Given the description of an element on the screen output the (x, y) to click on. 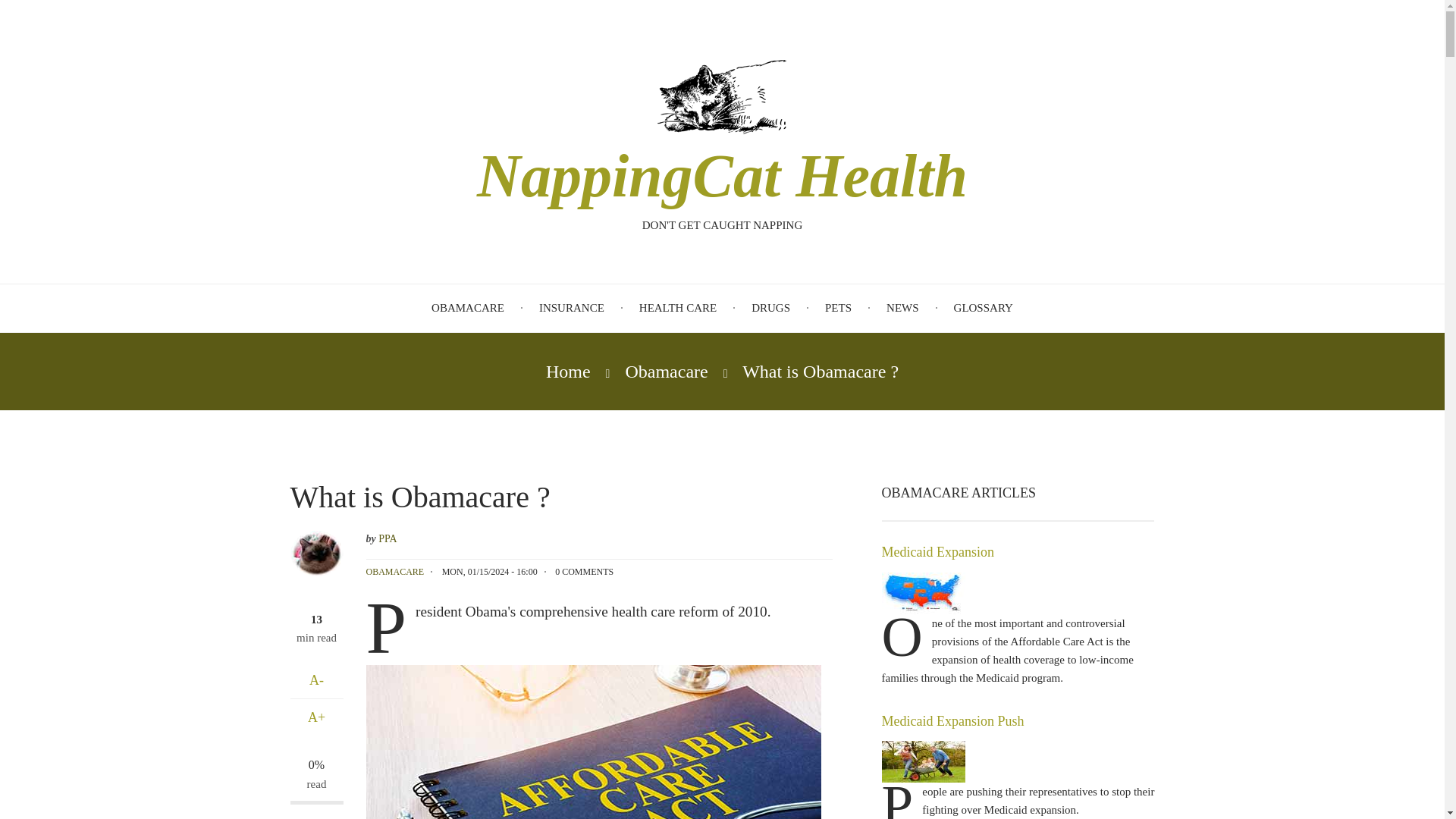
Home (721, 95)
NEWS (902, 308)
PPA (387, 537)
OBAMACARE (467, 308)
INSURANCE (571, 308)
Obamacare (665, 370)
NappingCat Health (722, 175)
View user profile. (387, 537)
A- (315, 680)
HEALTH CARE (677, 308)
Monday, January 15, 2024 - 16:00 (489, 571)
Home (568, 370)
PETS (838, 308)
OBAMACARE (394, 572)
